Given the description of an element on the screen output the (x, y) to click on. 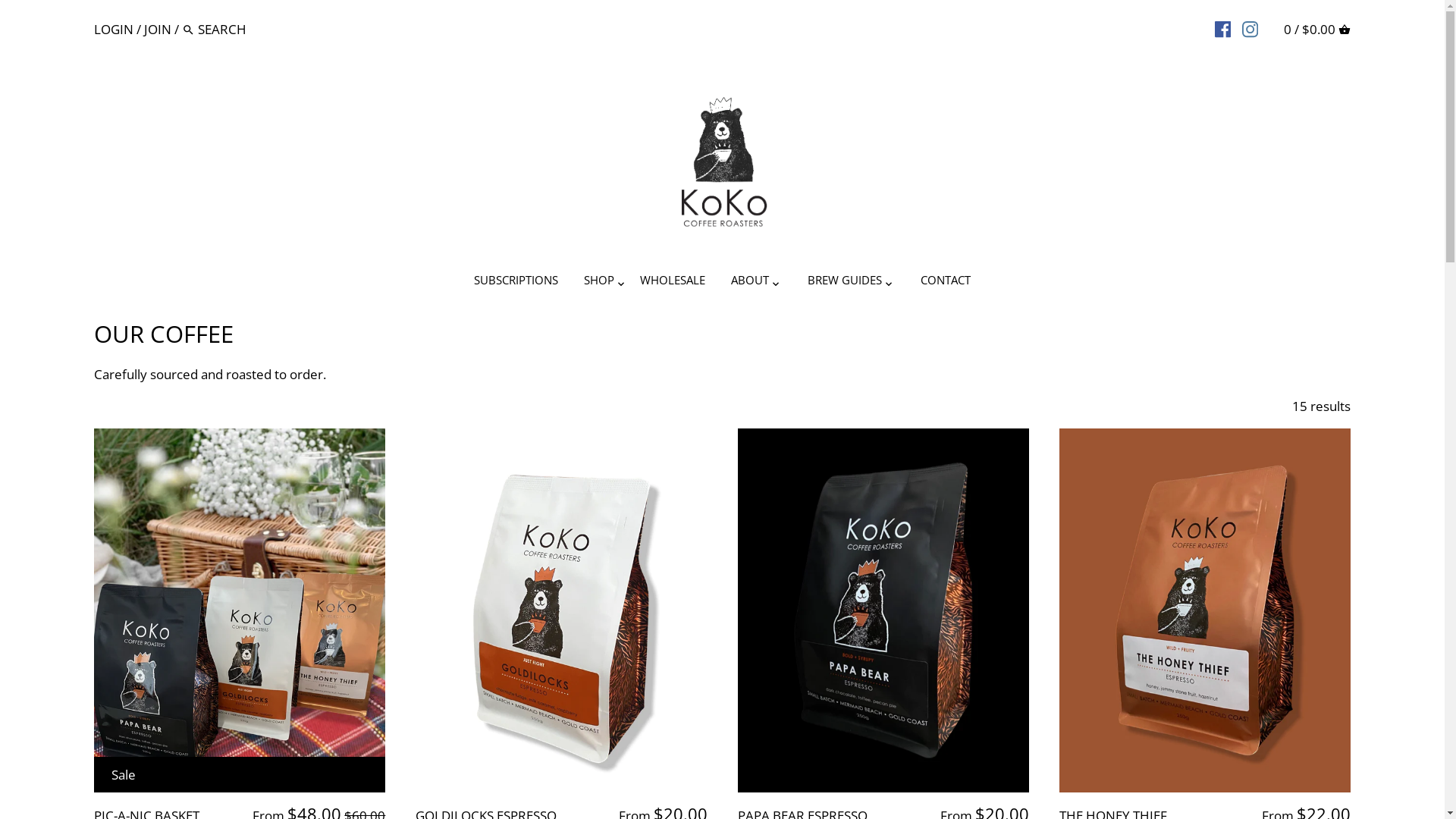
LOGIN Element type: text (113, 28)
INSTAGRAM Element type: text (1250, 27)
ABOUT Element type: text (749, 282)
SHOP Element type: text (598, 282)
FACEBOOK Element type: text (1222, 27)
SUBSCRIPTIONS Element type: text (515, 282)
Search Element type: text (188, 29)
CONTACT Element type: text (945, 282)
JOIN Element type: text (157, 28)
0 / $0.00 CART Element type: text (1316, 28)
BREW GUIDES Element type: text (844, 282)
WHOLESALE Element type: text (672, 282)
